Given the description of an element on the screen output the (x, y) to click on. 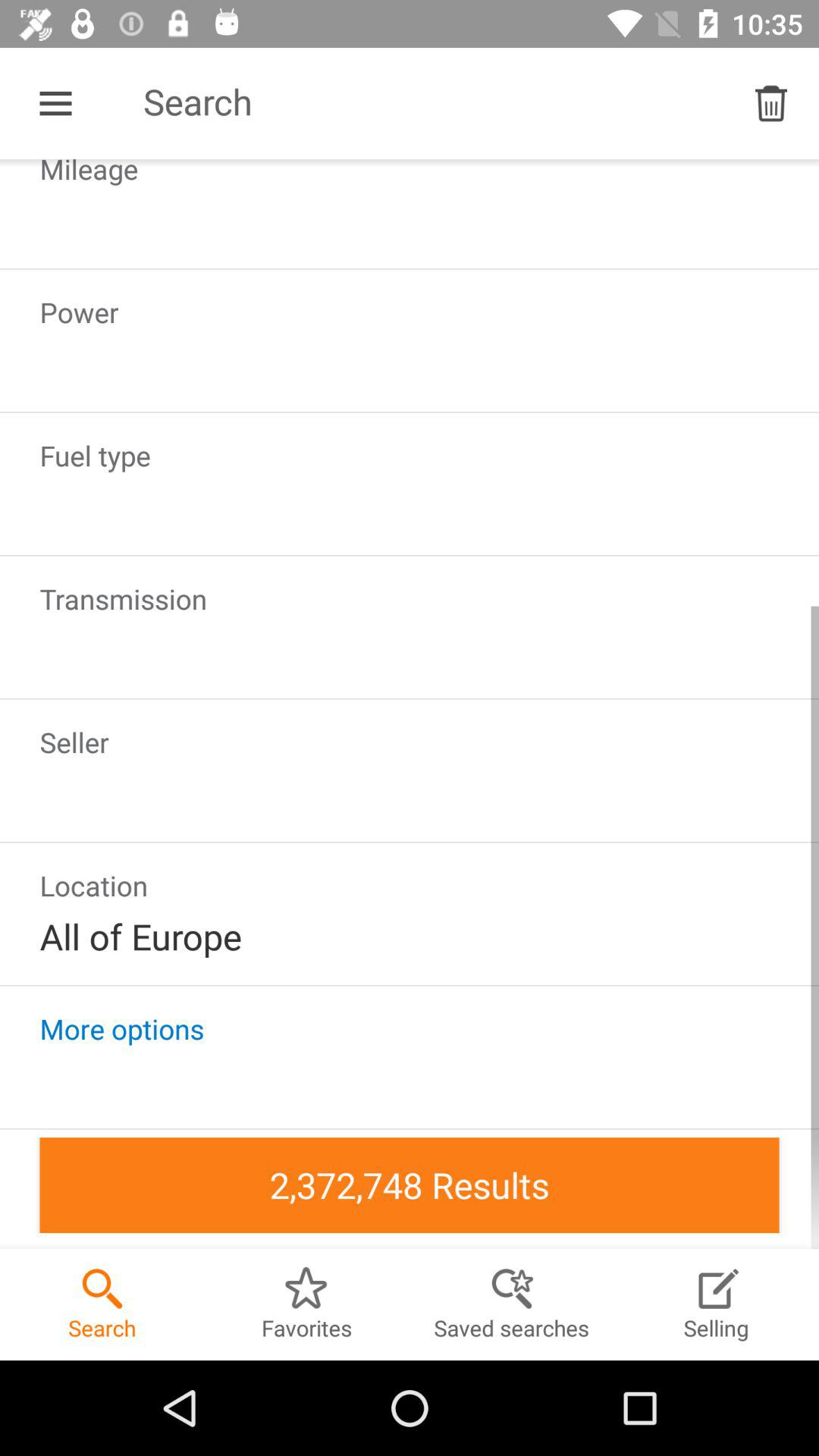
select 2372748 results in the bottom of the screen (409, 1185)
